Given the description of an element on the screen output the (x, y) to click on. 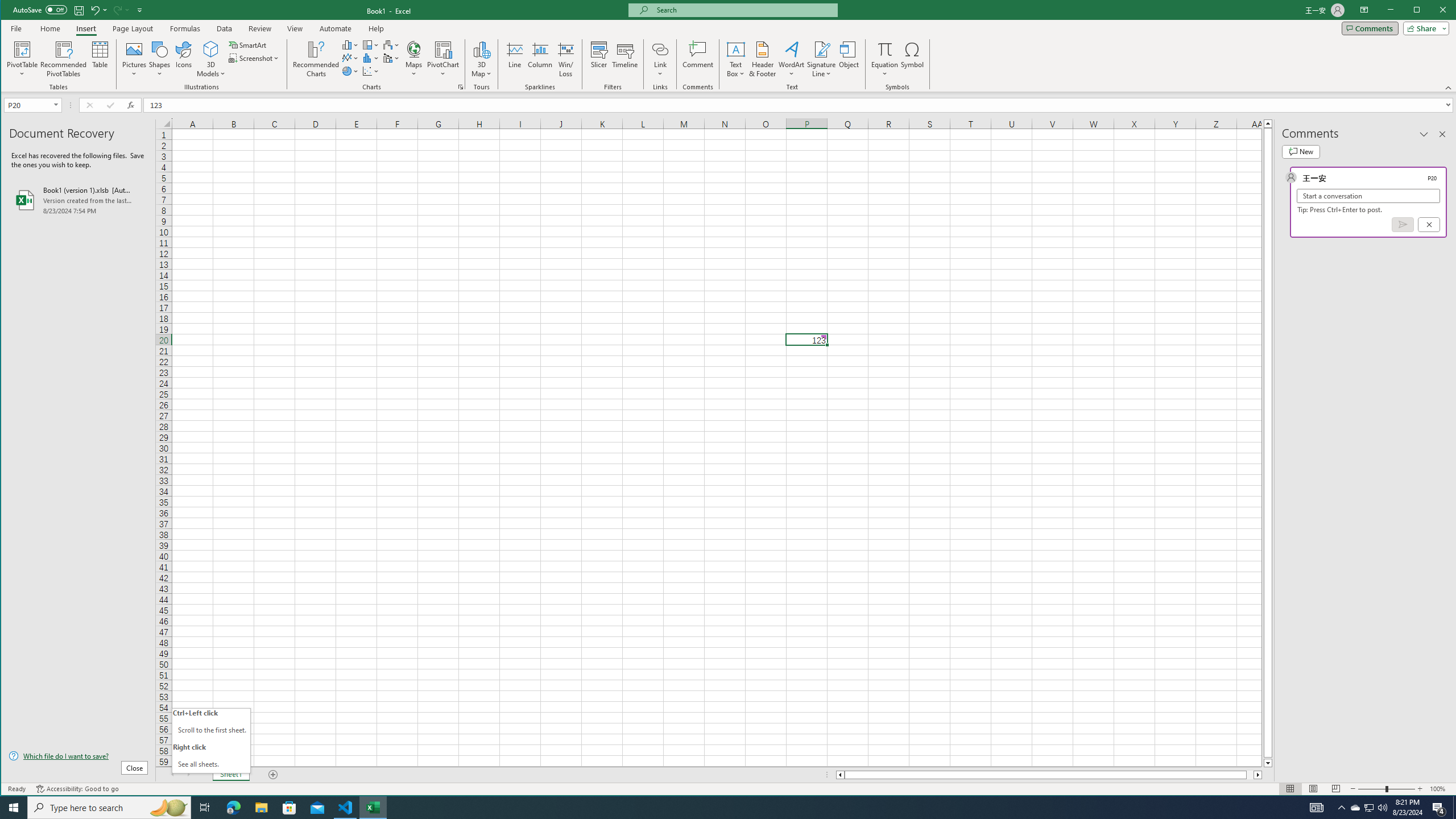
Which file do I want to save? (78, 755)
Insert Column or Bar Chart (350, 44)
Quick Access Toolbar (79, 9)
Symbol... (912, 59)
New comment (1300, 151)
Search highlights icon opens search home window (167, 807)
Page right (1249, 774)
Line (514, 59)
Microsoft Store (289, 807)
Insert Combo Chart (391, 57)
Minimize (1419, 11)
SmartArt... (248, 44)
Column left (839, 774)
Timeline (625, 59)
